Given the description of an element on the screen output the (x, y) to click on. 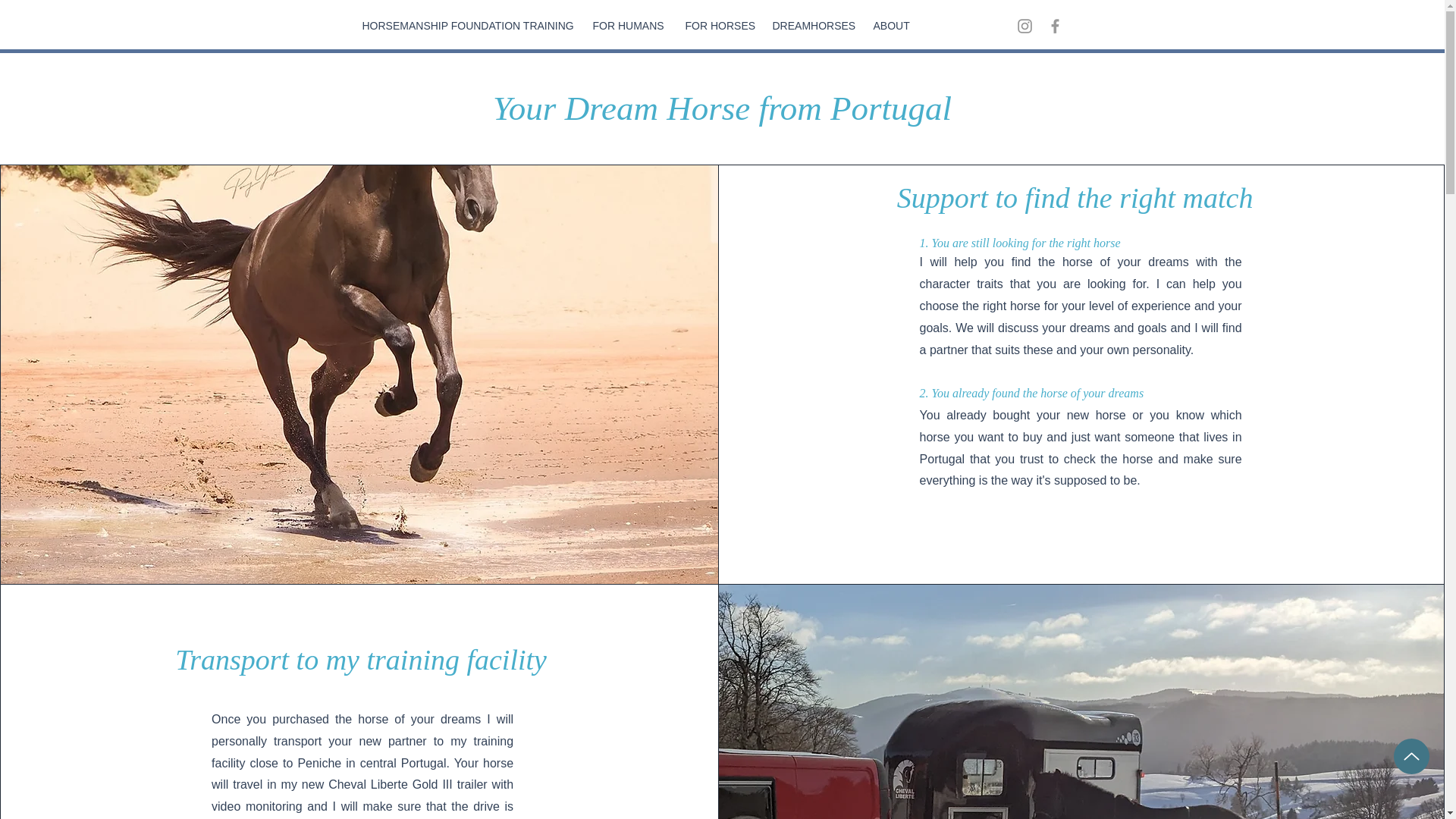
FOR HUMANS (626, 25)
HORSEMANSHIP FOUNDATION TRAINING (465, 25)
